Given the description of an element on the screen output the (x, y) to click on. 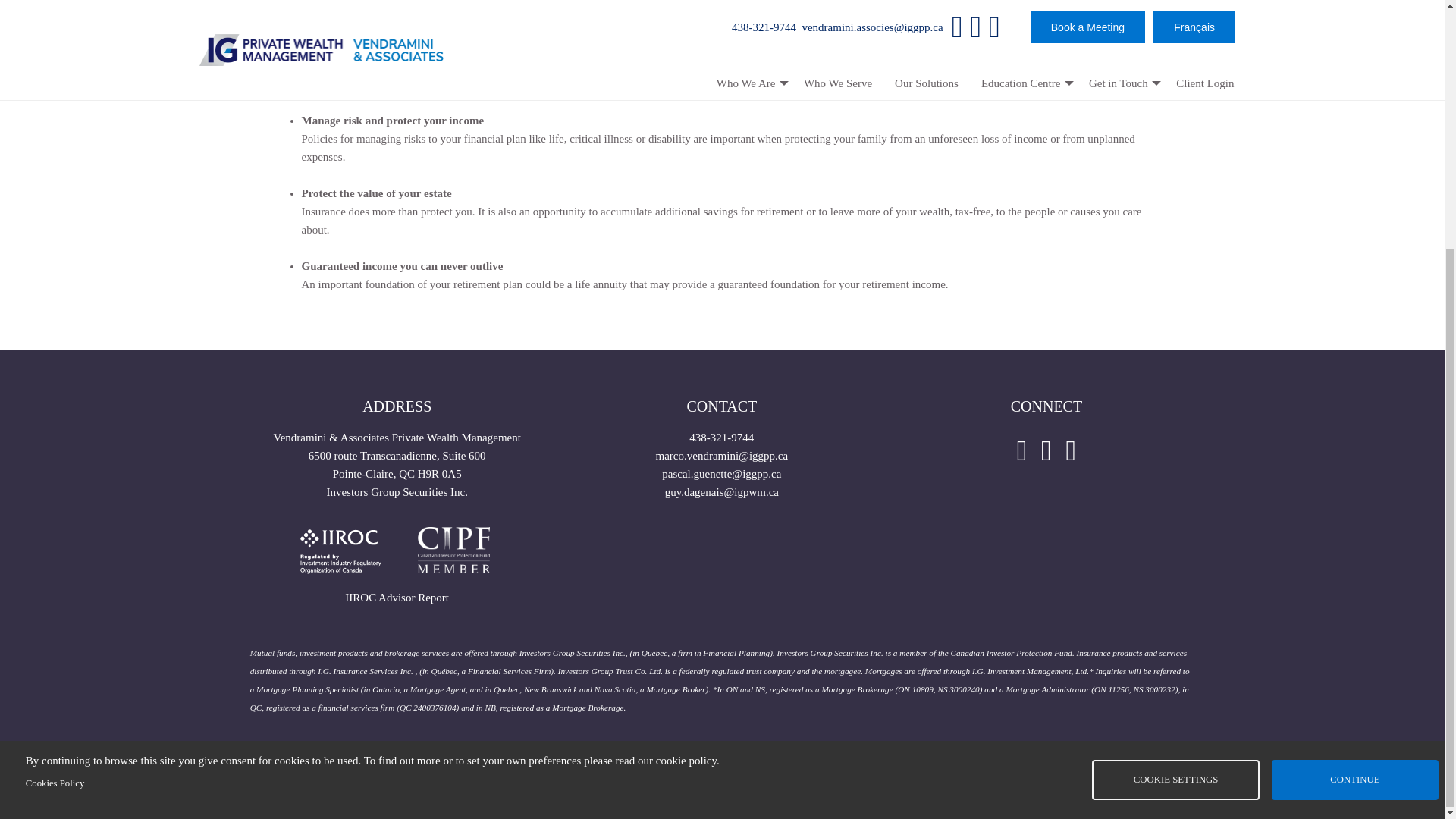
IIROC Advisor Report (396, 597)
Privacy (735, 763)
438-321-9744 (721, 437)
Conditions of Use (660, 763)
